Given the description of an element on the screen output the (x, y) to click on. 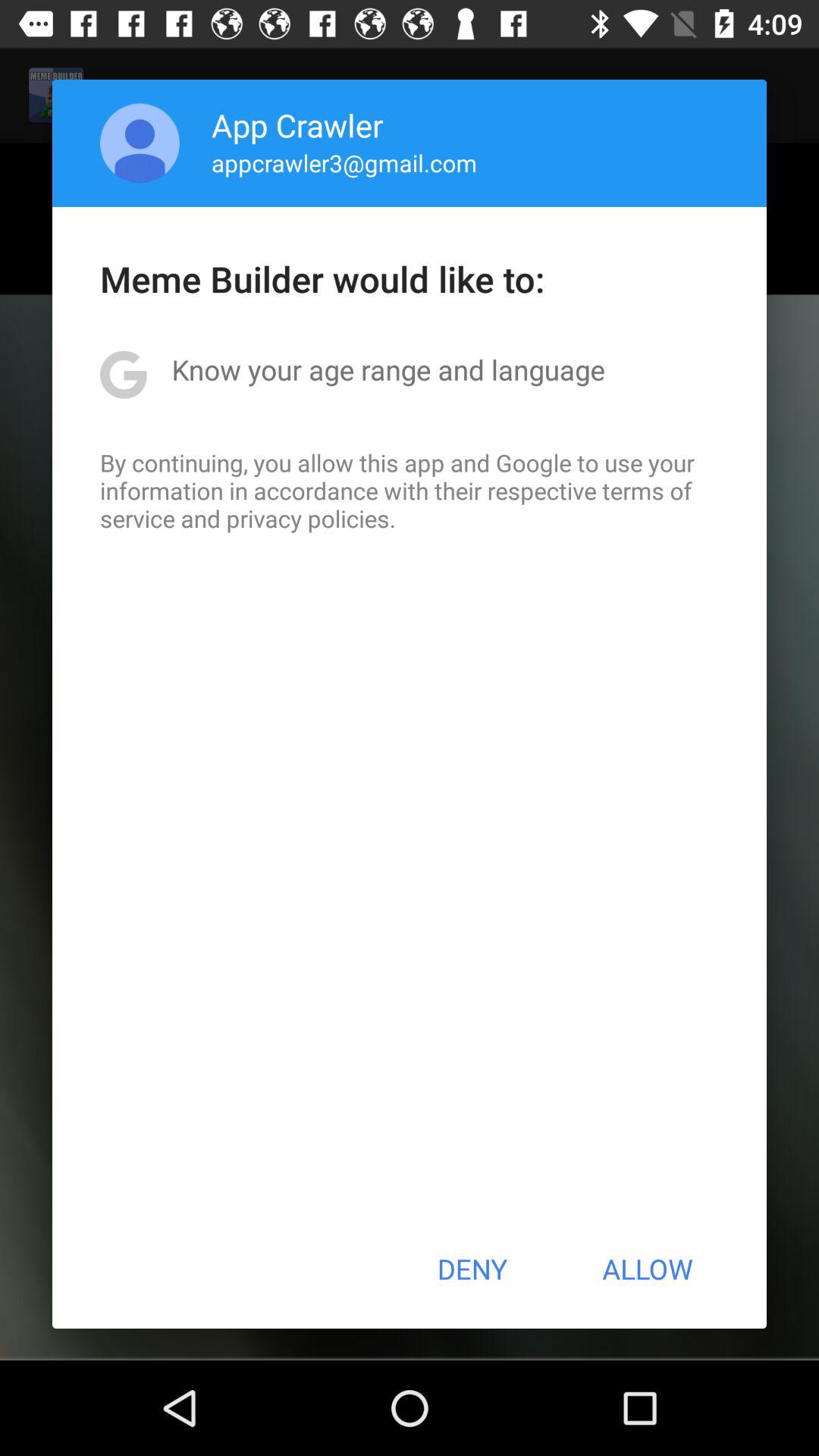
jump to app crawler app (297, 124)
